Given the description of an element on the screen output the (x, y) to click on. 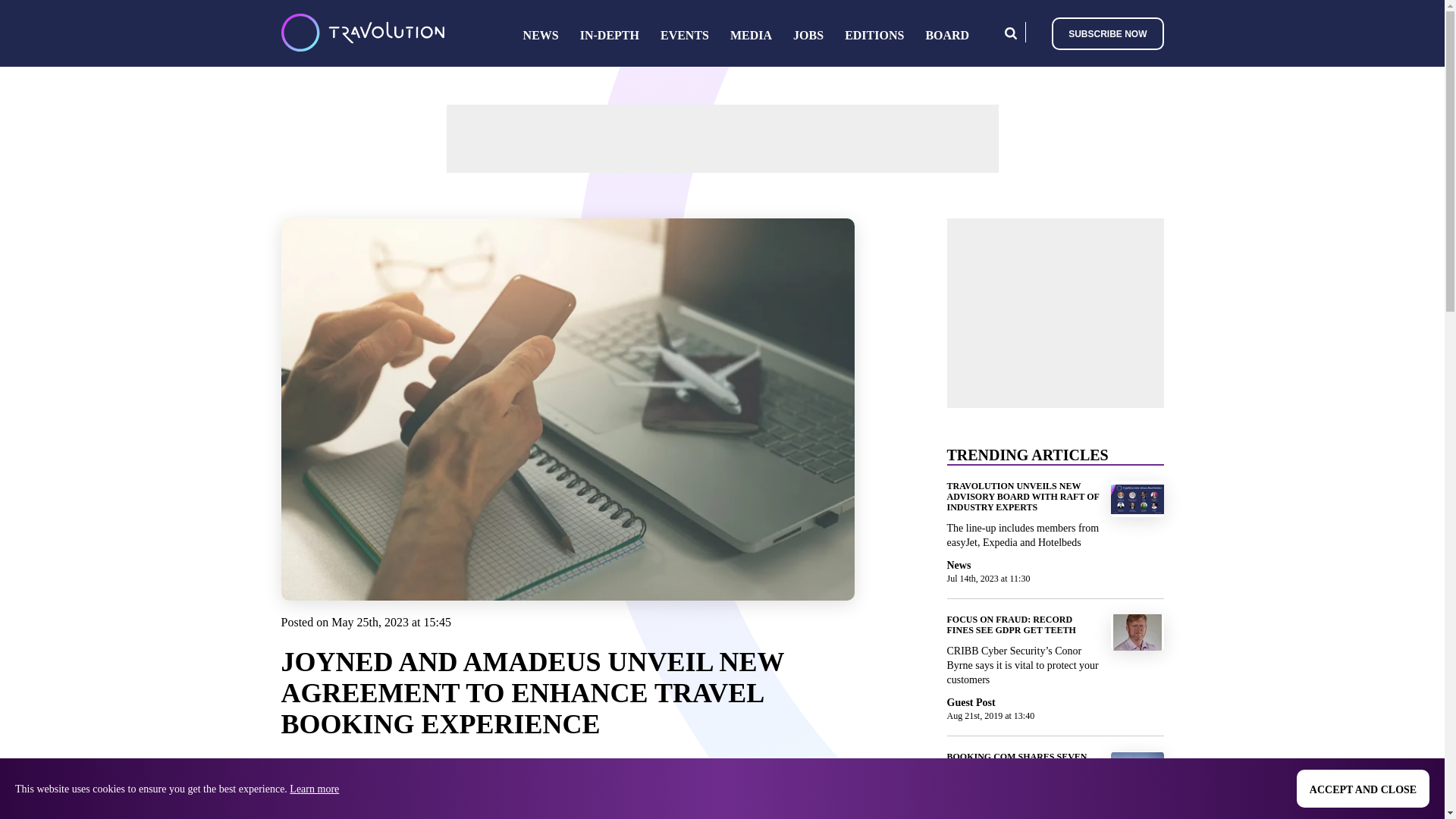
MEDIA (750, 34)
NEWS (540, 34)
Search (1010, 32)
EDITIONS (874, 34)
Board (946, 34)
IN-DEPTH (609, 34)
SUBSCRIBE NOW (1107, 32)
JOBS (808, 34)
BOARD (946, 34)
EVENTS (685, 34)
